Given the description of an element on the screen output the (x, y) to click on. 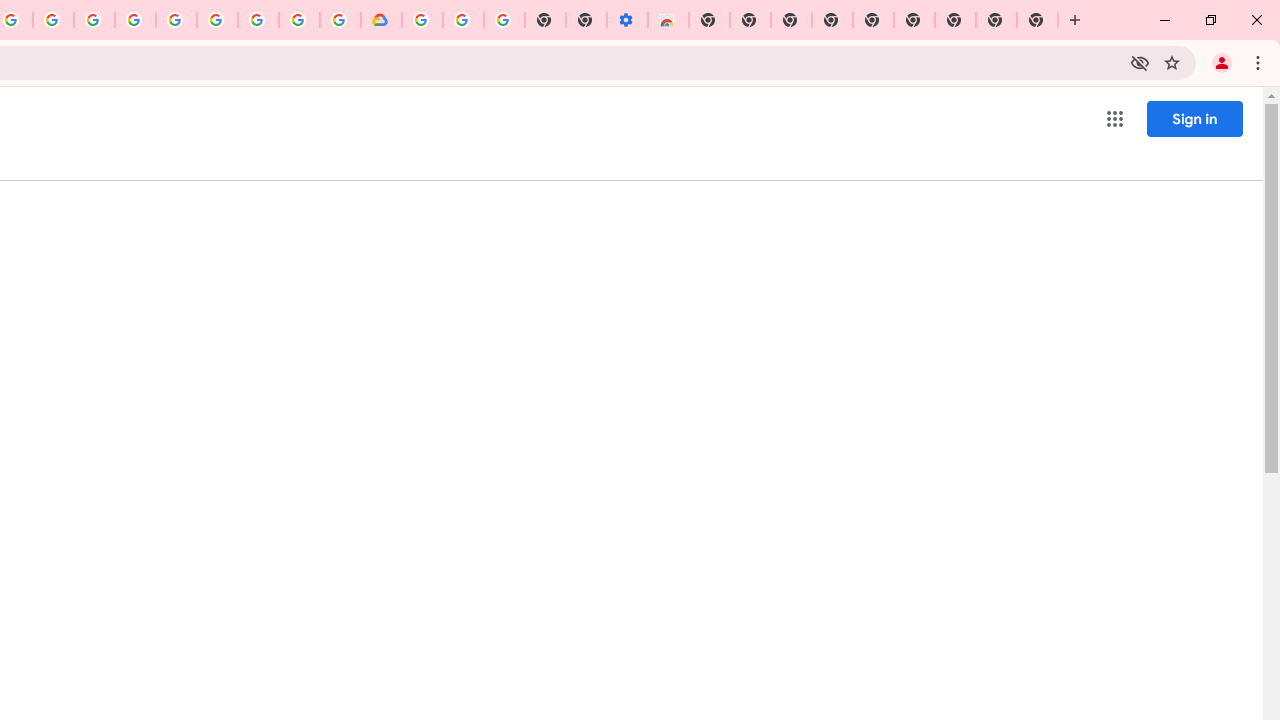
Ad Settings (135, 20)
New Tab (708, 20)
Create your Google Account (299, 20)
Sign in - Google Accounts (421, 20)
Google Account Help (462, 20)
Chrome Web Store - Accessibility extensions (667, 20)
